Given the description of an element on the screen output the (x, y) to click on. 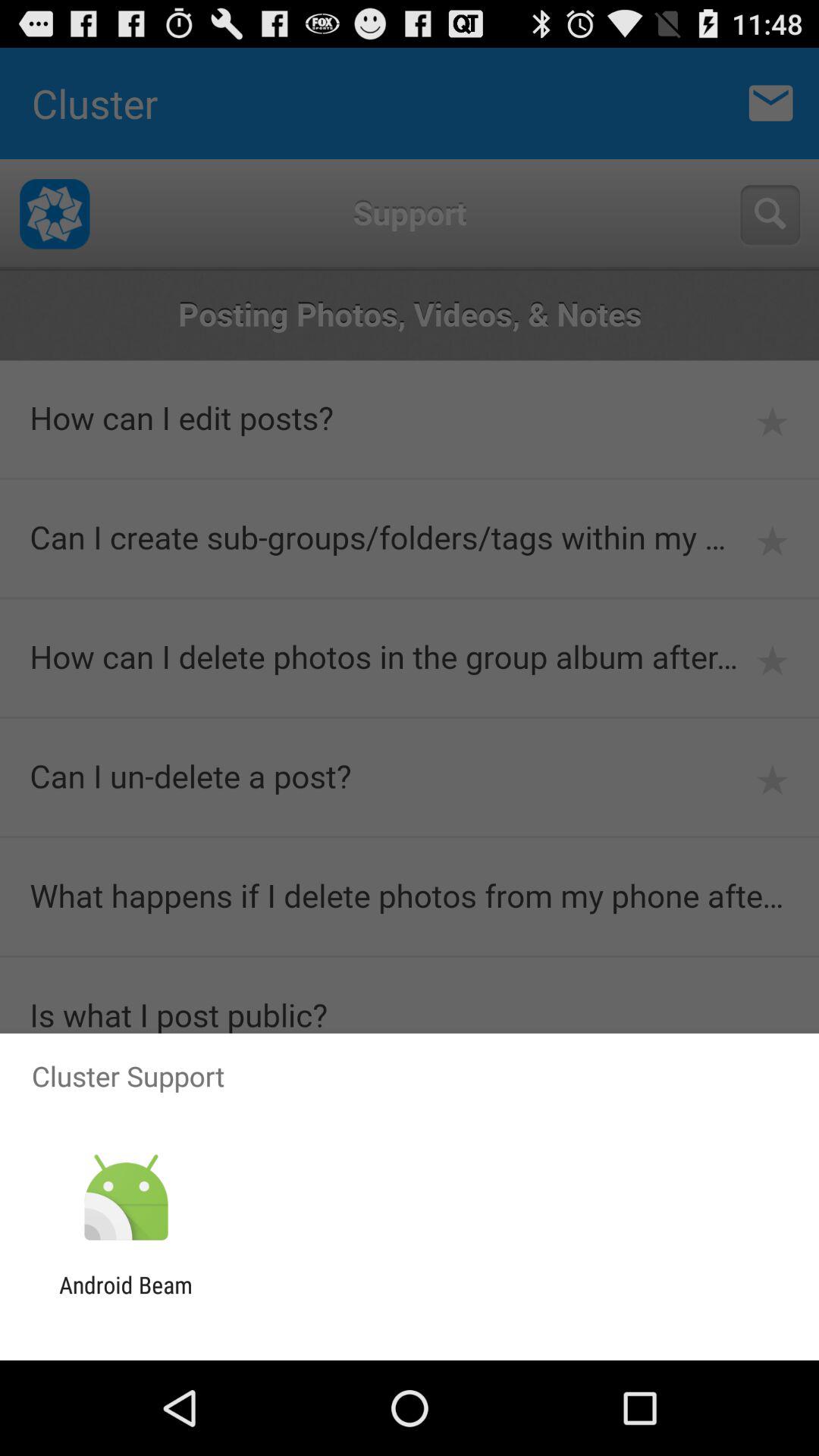
swipe to the android beam icon (125, 1298)
